Given the description of an element on the screen output the (x, y) to click on. 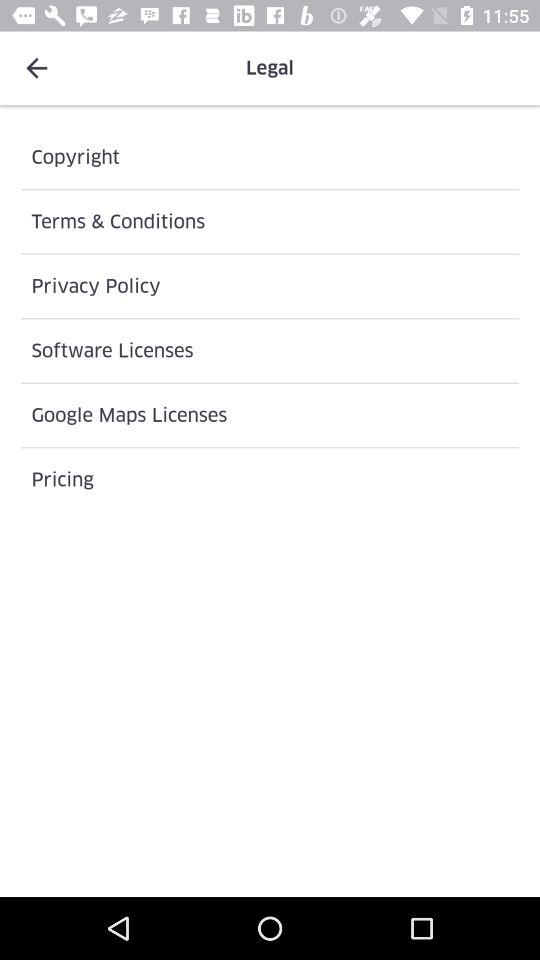
press terms & conditions icon (270, 221)
